Given the description of an element on the screen output the (x, y) to click on. 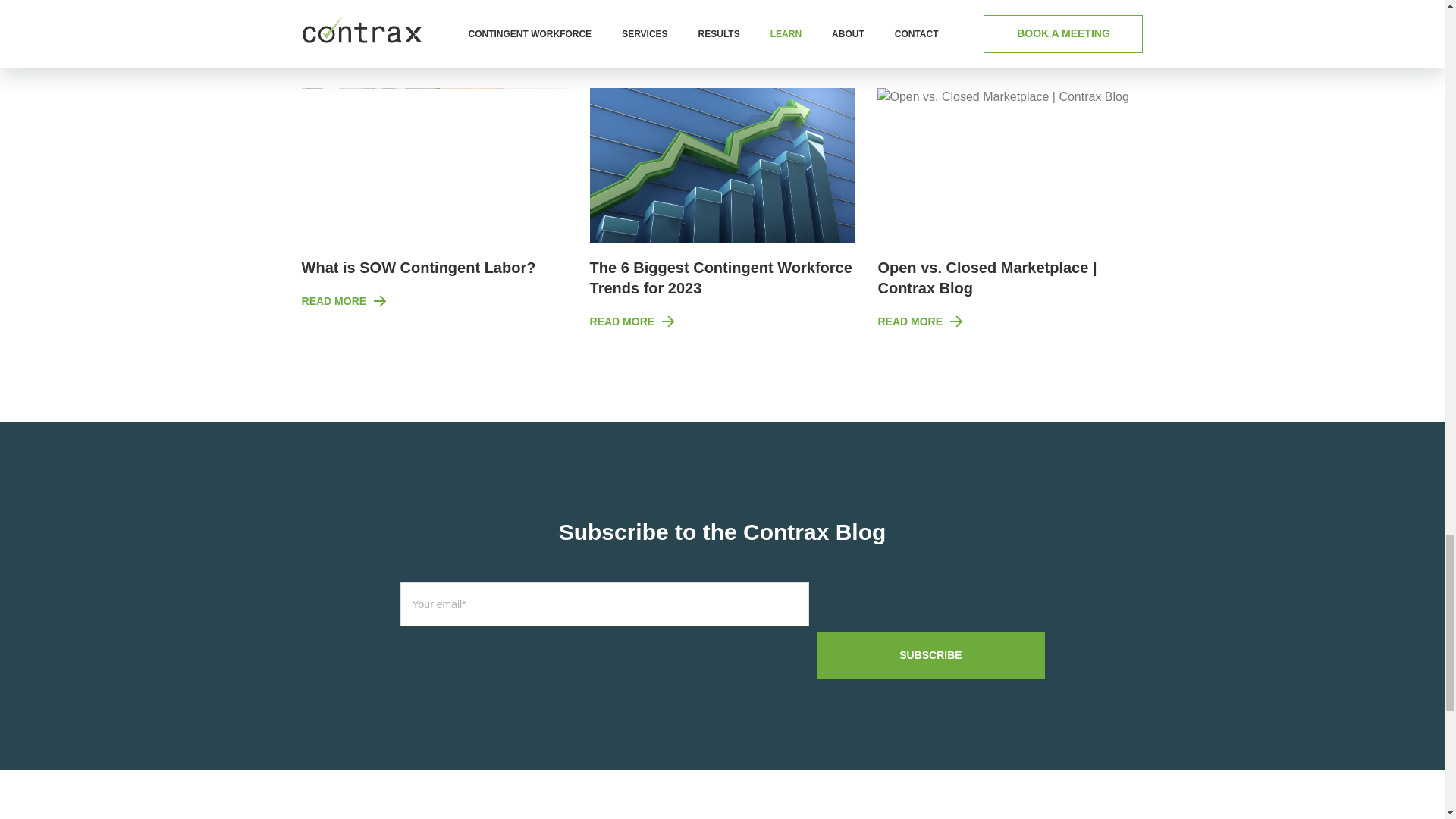
subscribe (929, 655)
What is SOW Contingent Labor? (418, 267)
READ MORE (344, 301)
